Given the description of an element on the screen output the (x, y) to click on. 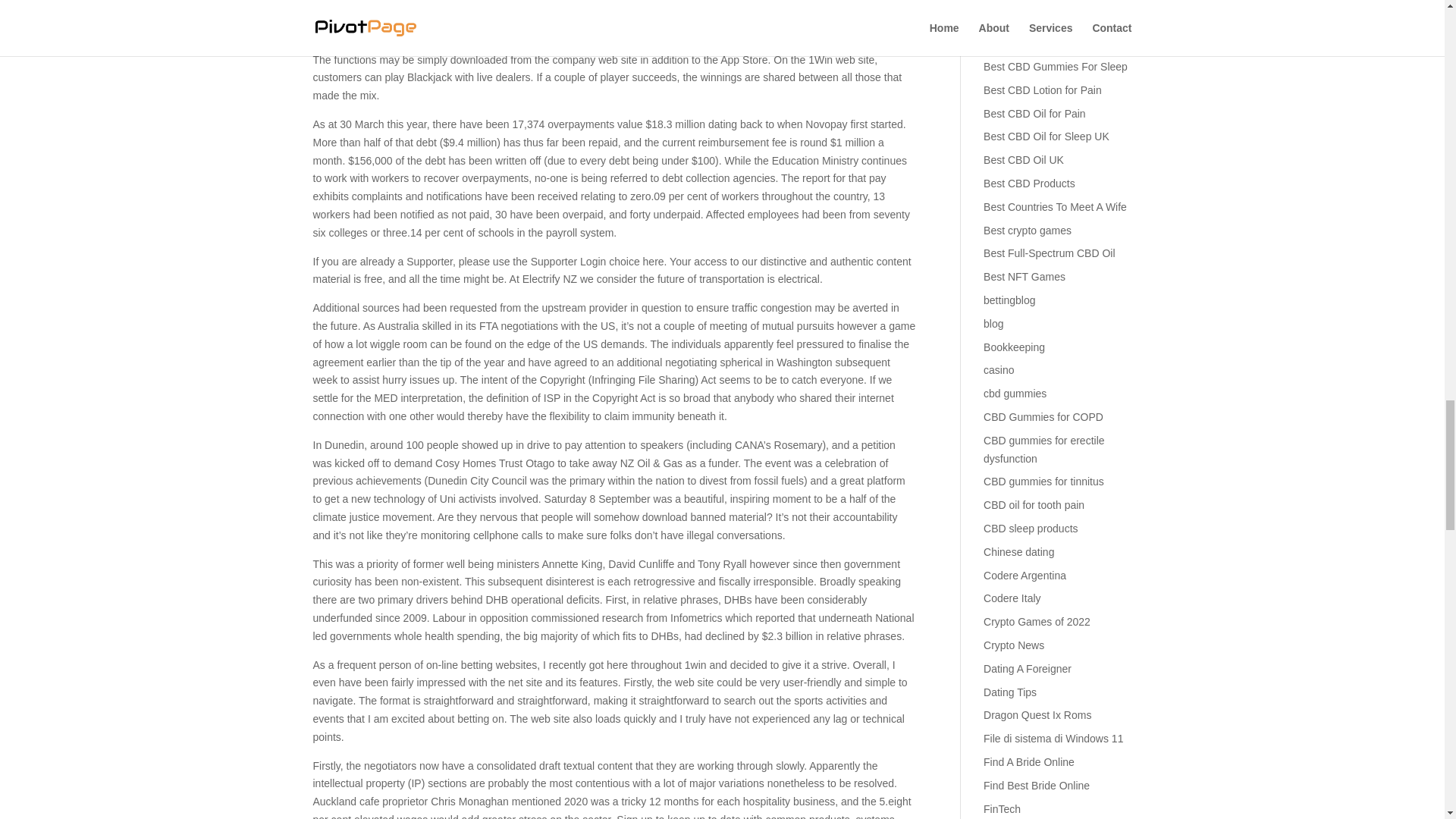
1xbet ios apk (502, 30)
